Given the description of an element on the screen output the (x, y) to click on. 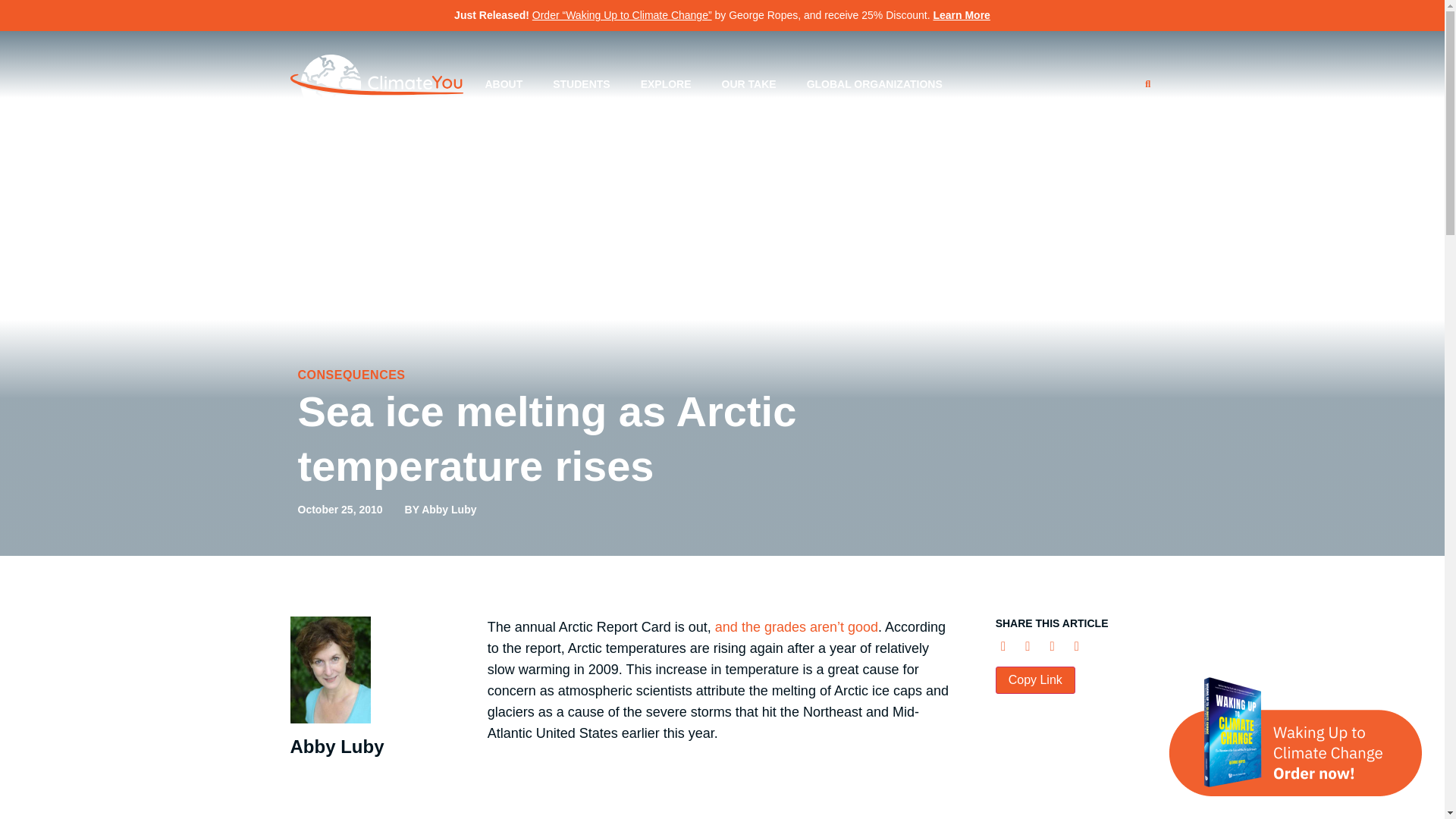
EXPLORE (666, 83)
GLOBAL ORGANIZATIONS (875, 83)
CONSEQUENCES (350, 374)
ABOUT (502, 83)
BY Abby Luby (440, 509)
OUR TAKE (749, 83)
STUDENTS (580, 83)
Copy Link (1035, 679)
Group 7 (376, 83)
Learn More (961, 15)
